Given the description of an element on the screen output the (x, y) to click on. 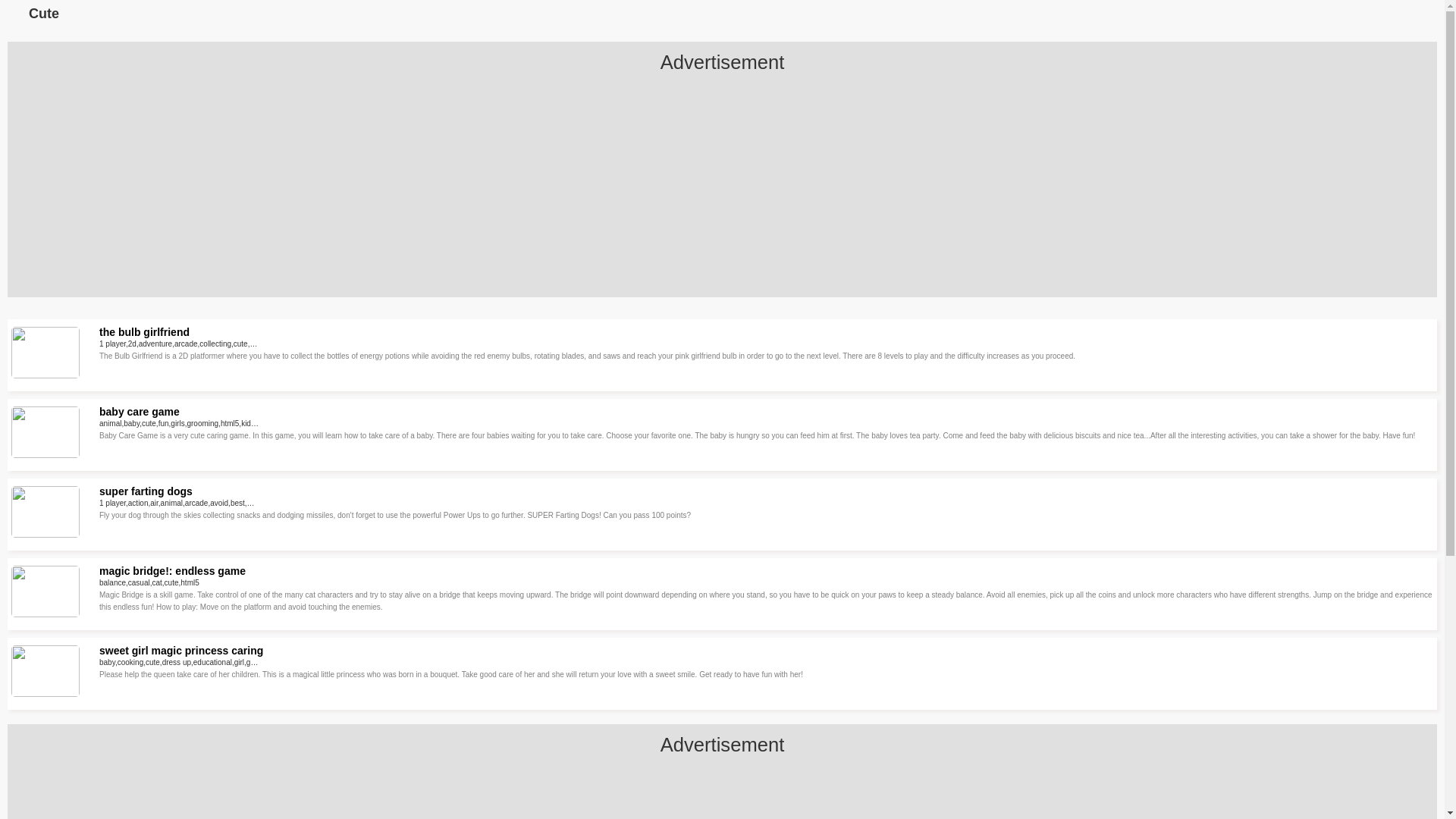
the bulb girlfriend (144, 331)
sweet girl magic princess caring (181, 650)
Advertisement (721, 793)
baby care game (139, 411)
Advertisement (721, 191)
magic bridge!: endless game (172, 571)
super farting dogs (145, 491)
